Given the description of an element on the screen output the (x, y) to click on. 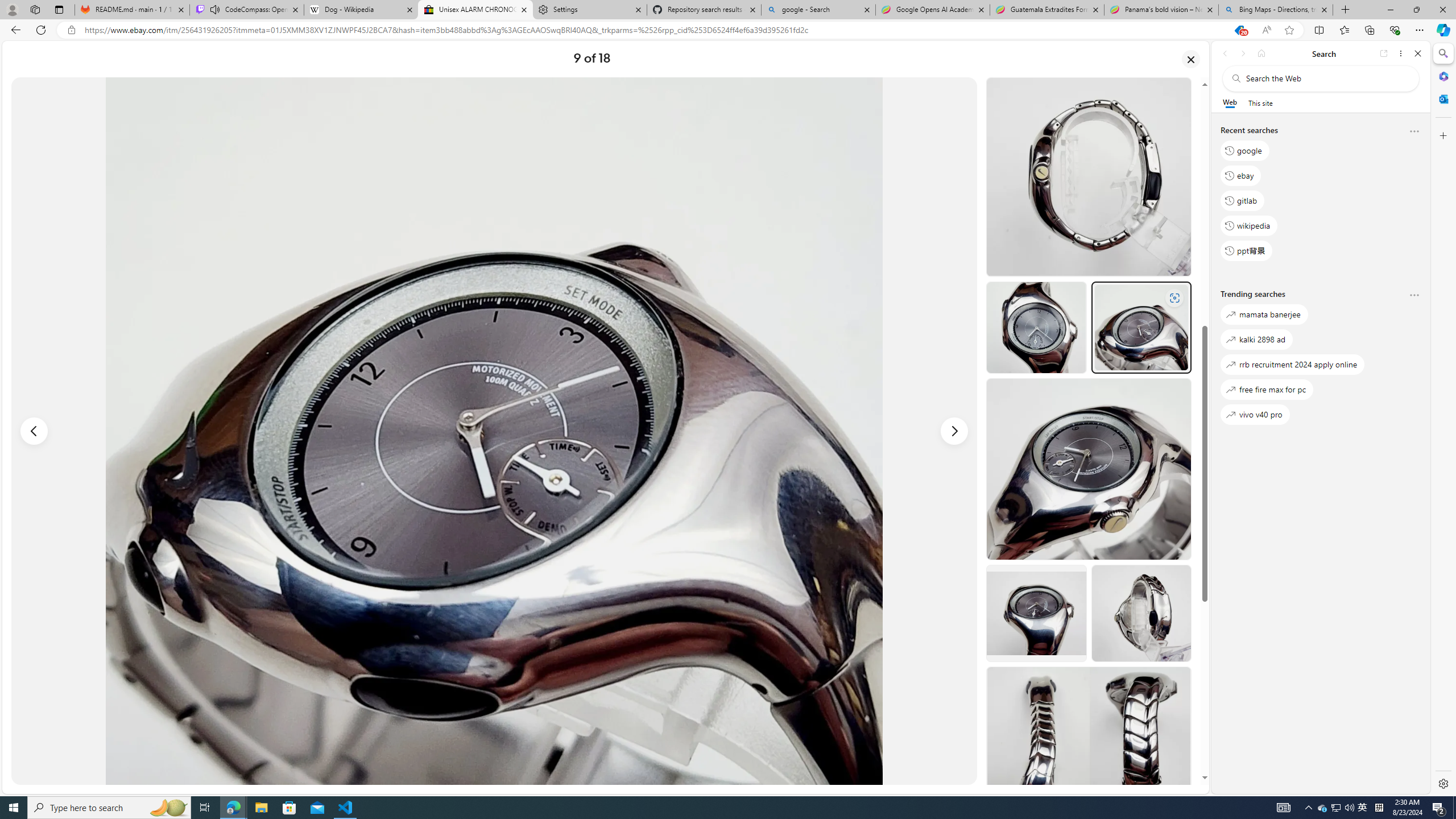
Picture 9 of 18 (493, 430)
rrb recruitment 2024 apply online (1292, 364)
Previous image - Item images thumbnails (34, 430)
Mute tab (215, 8)
google (1244, 150)
